Given the description of an element on the screen output the (x, y) to click on. 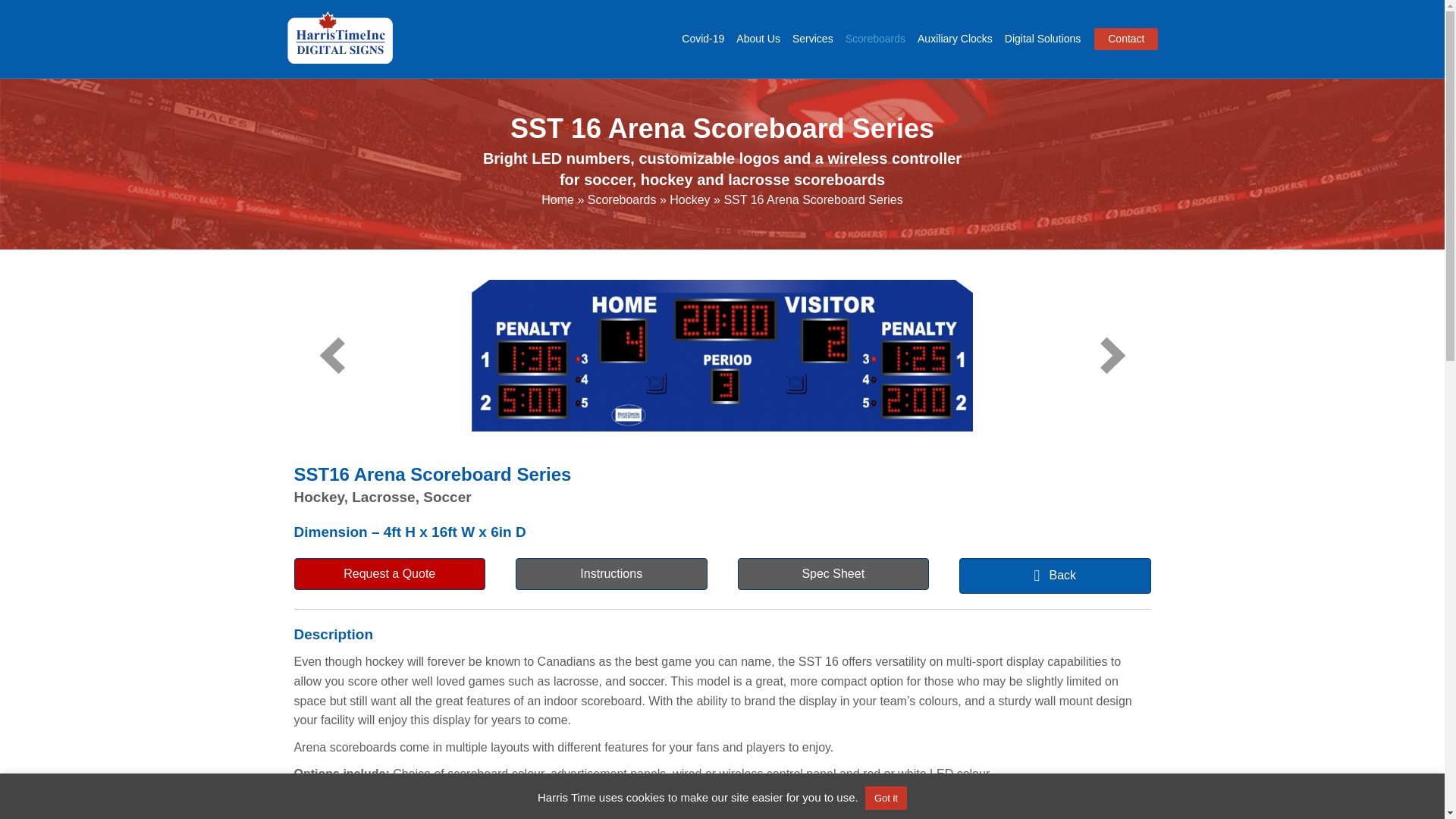
Covid-19 (702, 39)
Scoreboards (875, 39)
Auxiliary Clocks (954, 39)
Digital Solutions (1042, 39)
About Us (758, 39)
Services (813, 39)
Contact (1125, 38)
